Given the description of an element on the screen output the (x, y) to click on. 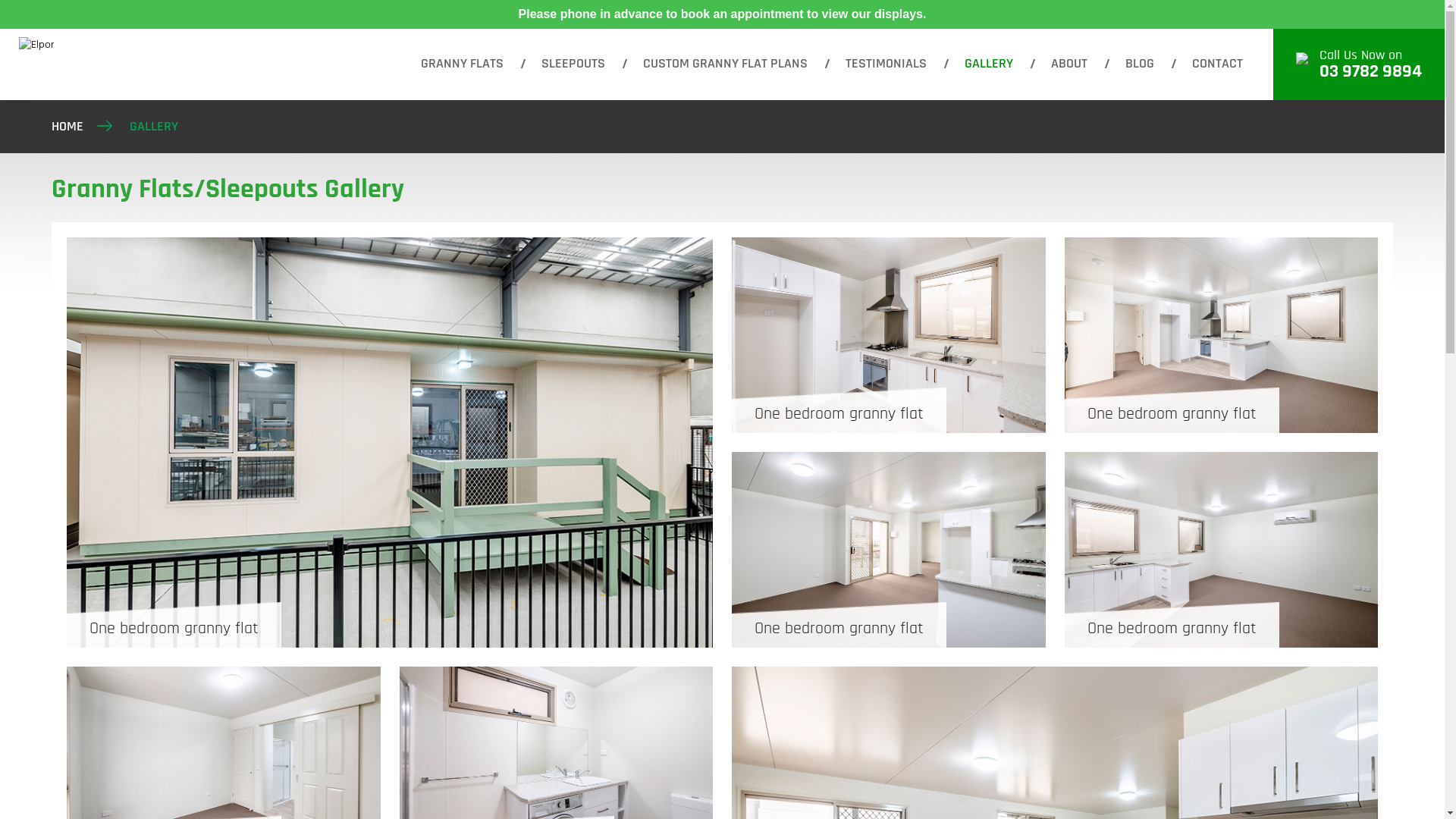
GALLERY Element type: text (988, 63)
Call Us Now on
03 9782 9894 Element type: text (1358, 64)
BLOG Element type: text (1139, 63)
HOME Element type: text (67, 125)
CONTACT Element type: text (1217, 63)
ABOUT Element type: text (1069, 63)
GRANNY FLATS Element type: text (461, 63)
TESTIMONIALS Element type: text (885, 63)
CUSTOM GRANNY FLAT PLANS Element type: text (725, 63)
SLEEPOUTS Element type: text (573, 63)
